Given the description of an element on the screen output the (x, y) to click on. 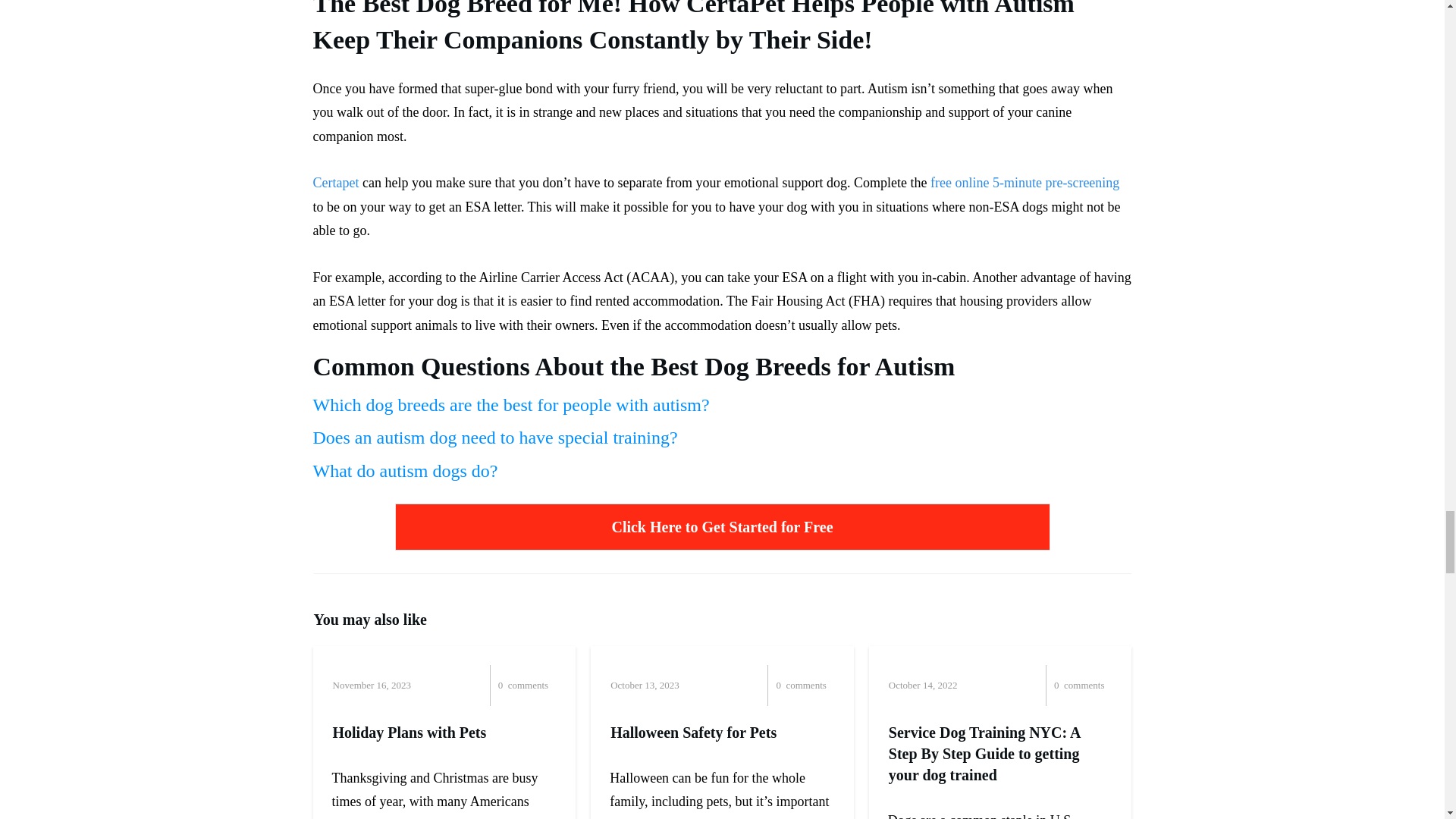
free online 5-minute pre-screening (1024, 182)
What do autism dogs do? (405, 470)
Halloween Safety for Pets (693, 732)
Certapet (335, 182)
0  comments (502, 685)
Which dog breeds are the best for people with autism? (511, 404)
0  comments (1059, 685)
0  comments (781, 685)
Click Here to Get Started for Free (721, 526)
Holiday Plans with Pets (408, 732)
